Given the description of an element on the screen output the (x, y) to click on. 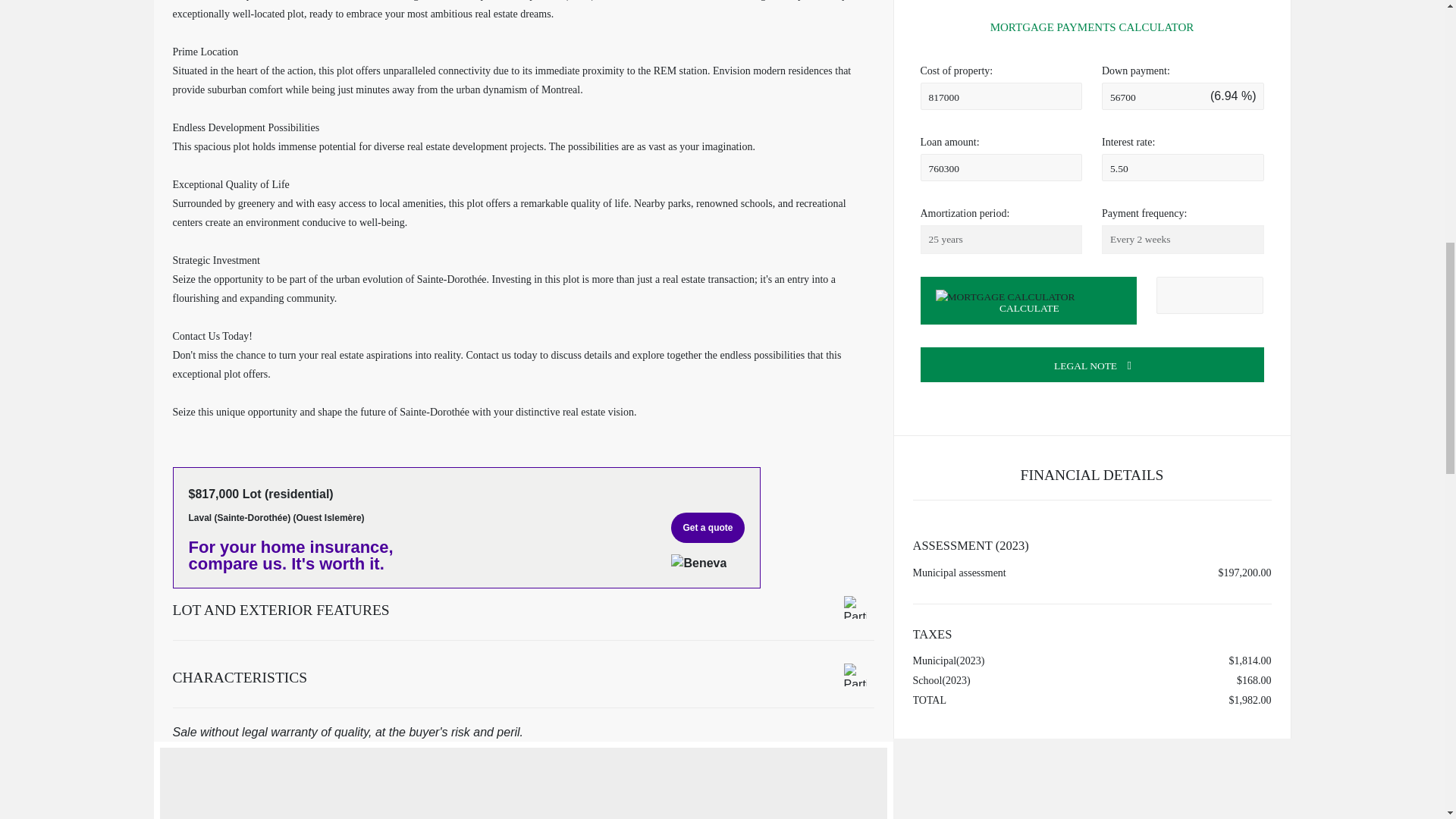
56700 (1182, 95)
5.50 (1182, 166)
760300 (1001, 166)
817000 (1001, 95)
